Given the description of an element on the screen output the (x, y) to click on. 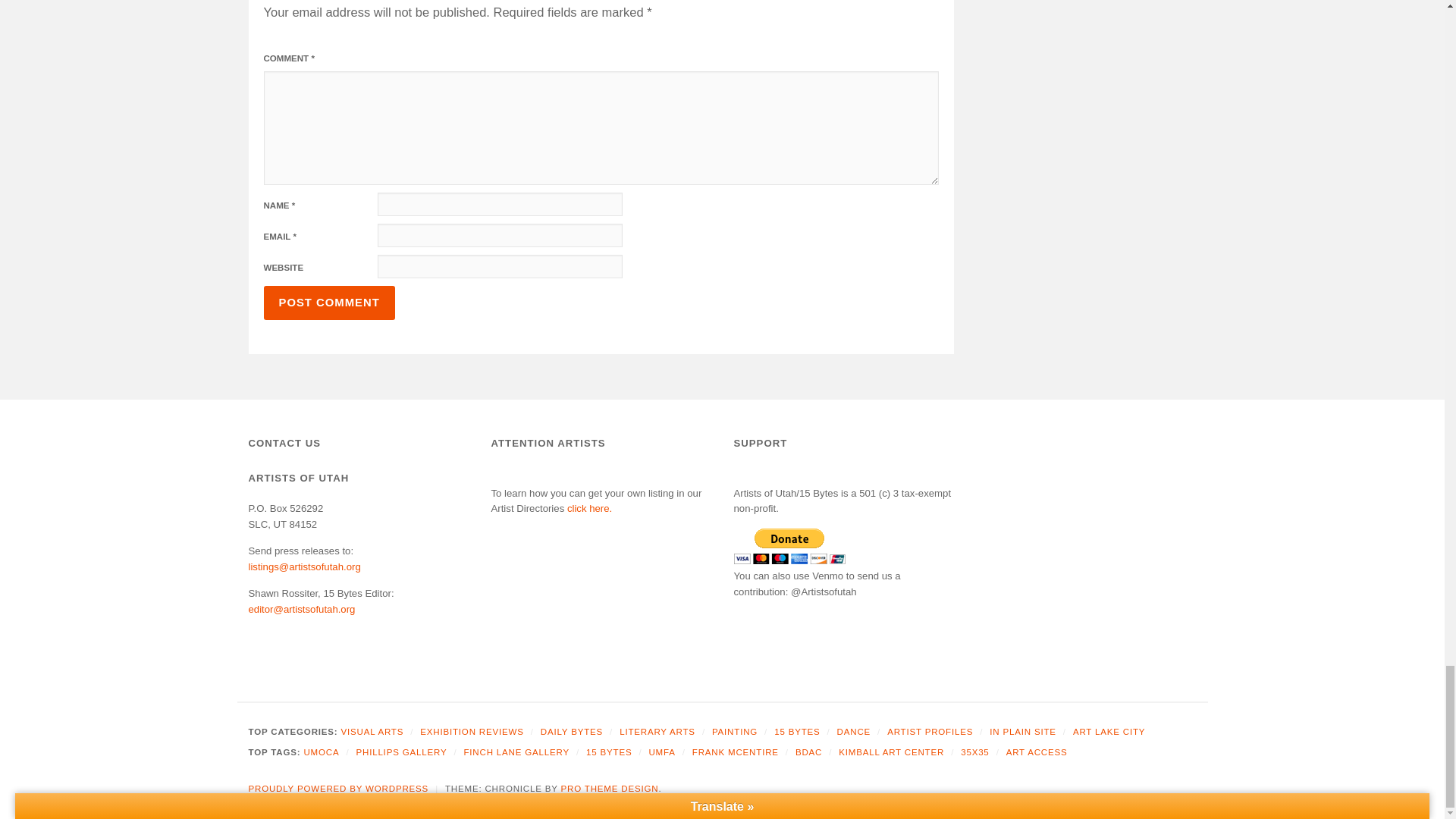
A Semantic Personal Publishing Platform (338, 788)
Post Comment (328, 302)
